Given the description of an element on the screen output the (x, y) to click on. 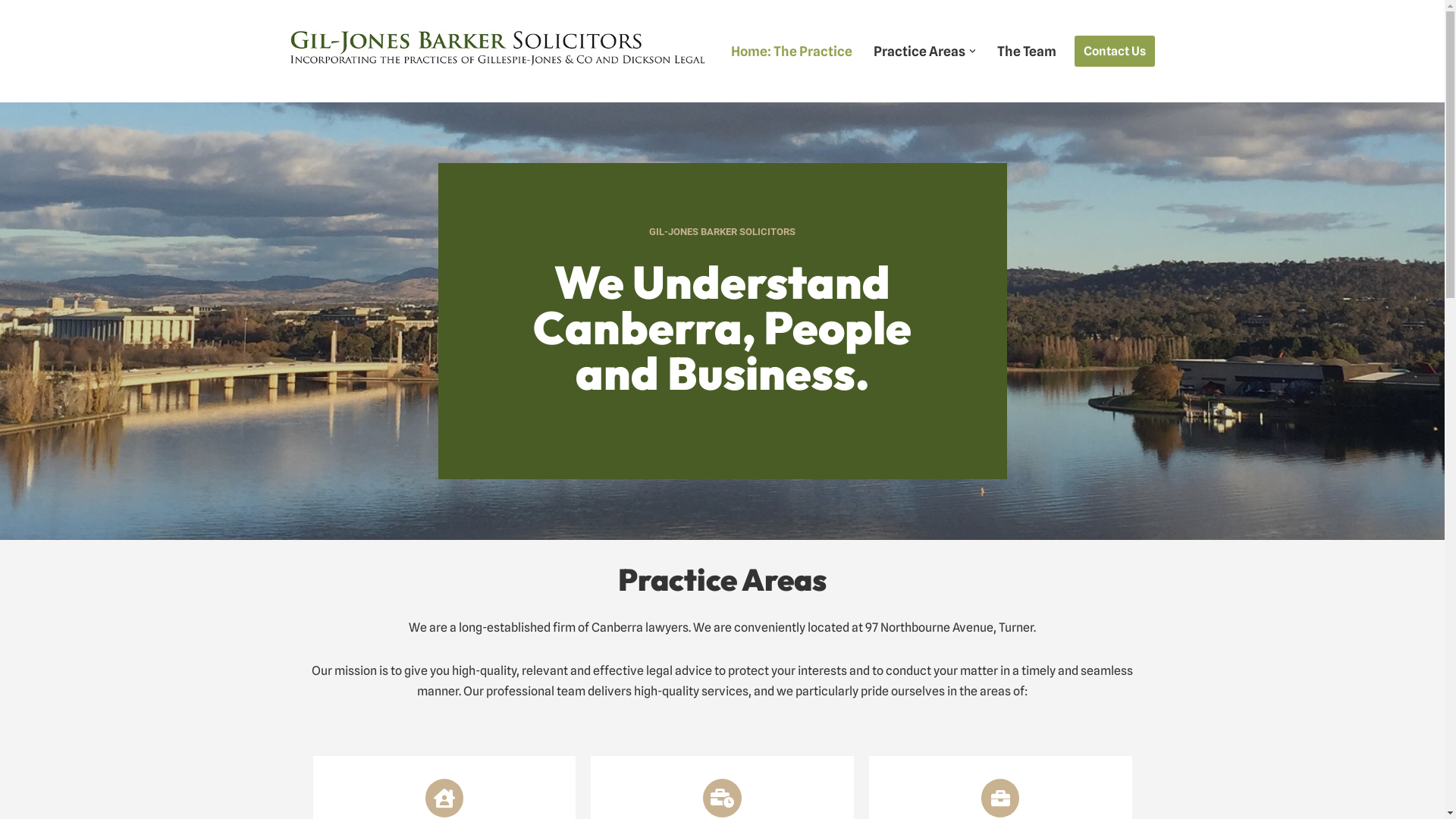
The Team Element type: text (1025, 51)
Home: The Practice Element type: text (791, 51)
Skip to content Element type: text (11, 31)
Contact Us Element type: text (1113, 51)
Practice Areas Element type: text (919, 51)
